Given the description of an element on the screen output the (x, y) to click on. 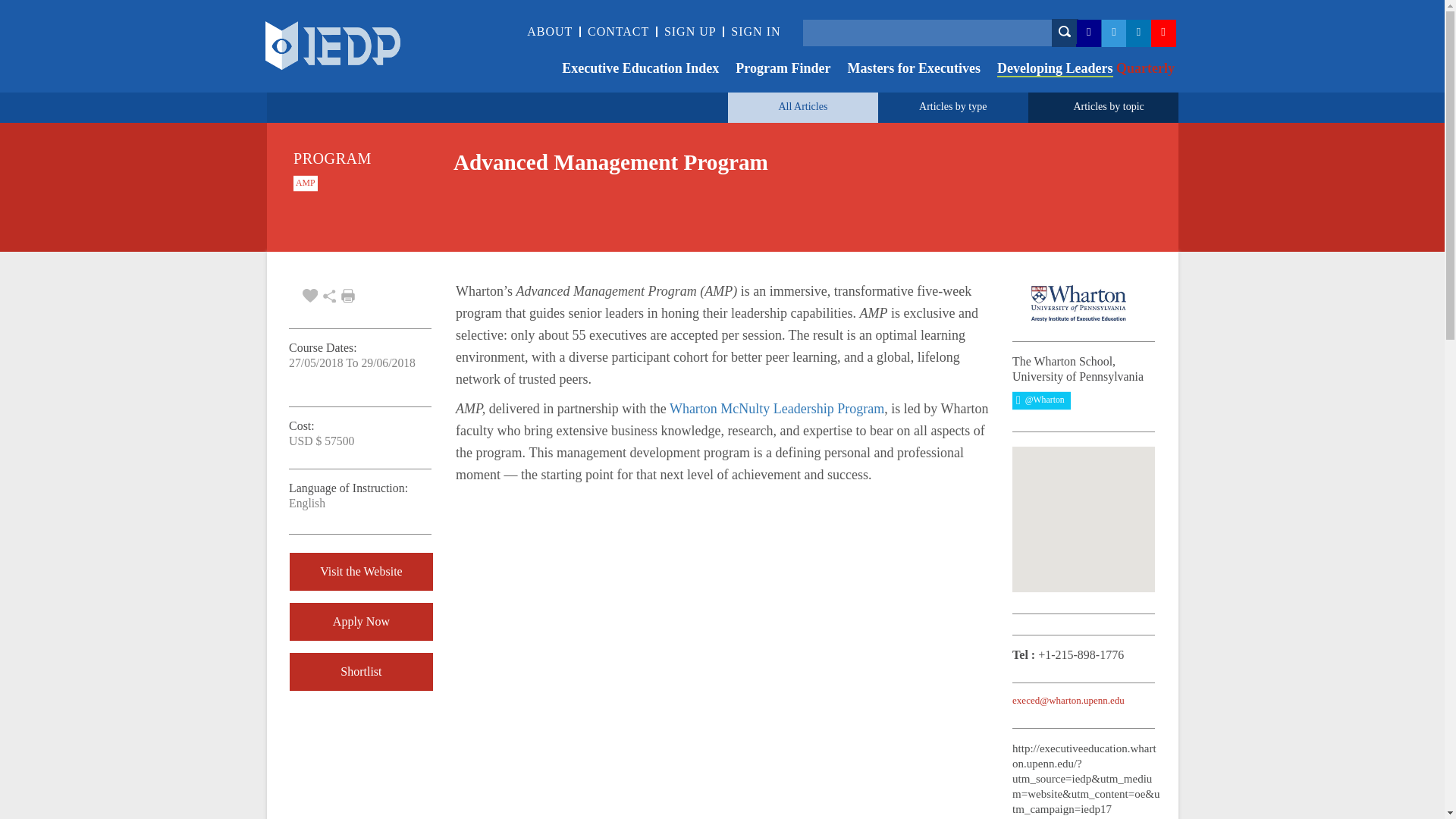
Articles by topic (1107, 106)
Developing Leaders Quarterly (1076, 70)
CONTACT (618, 31)
Articles by type (952, 106)
SIGN UP (689, 31)
print (347, 295)
Masters for Executives (904, 70)
Program Finder (774, 70)
Executive Education Index (631, 70)
SIGN IN (755, 31)
All Articles (802, 106)
ABOUT (549, 31)
